Given the description of an element on the screen output the (x, y) to click on. 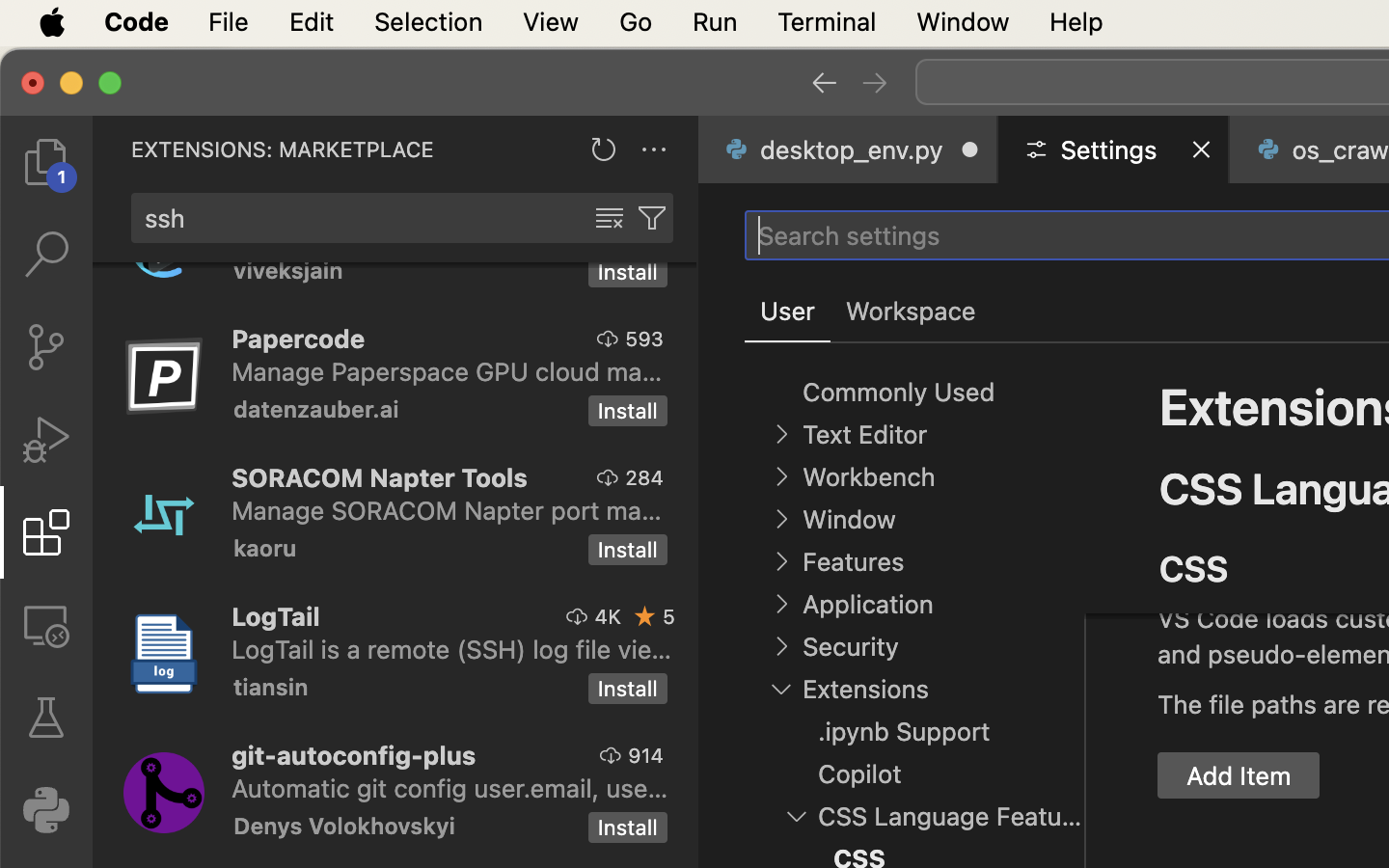
CSS Element type: AXStaticText (1193, 568)
CSS Language Features Element type: AXStaticText (949, 816)
Automatic git config user.email, user.name, SSH key setting for vscode Element type: AXStaticText (450, 787)
.ipynb Support Element type: AXStaticText (904, 731)
Features Element type: AXStaticText (853, 561)
